Given the description of an element on the screen output the (x, y) to click on. 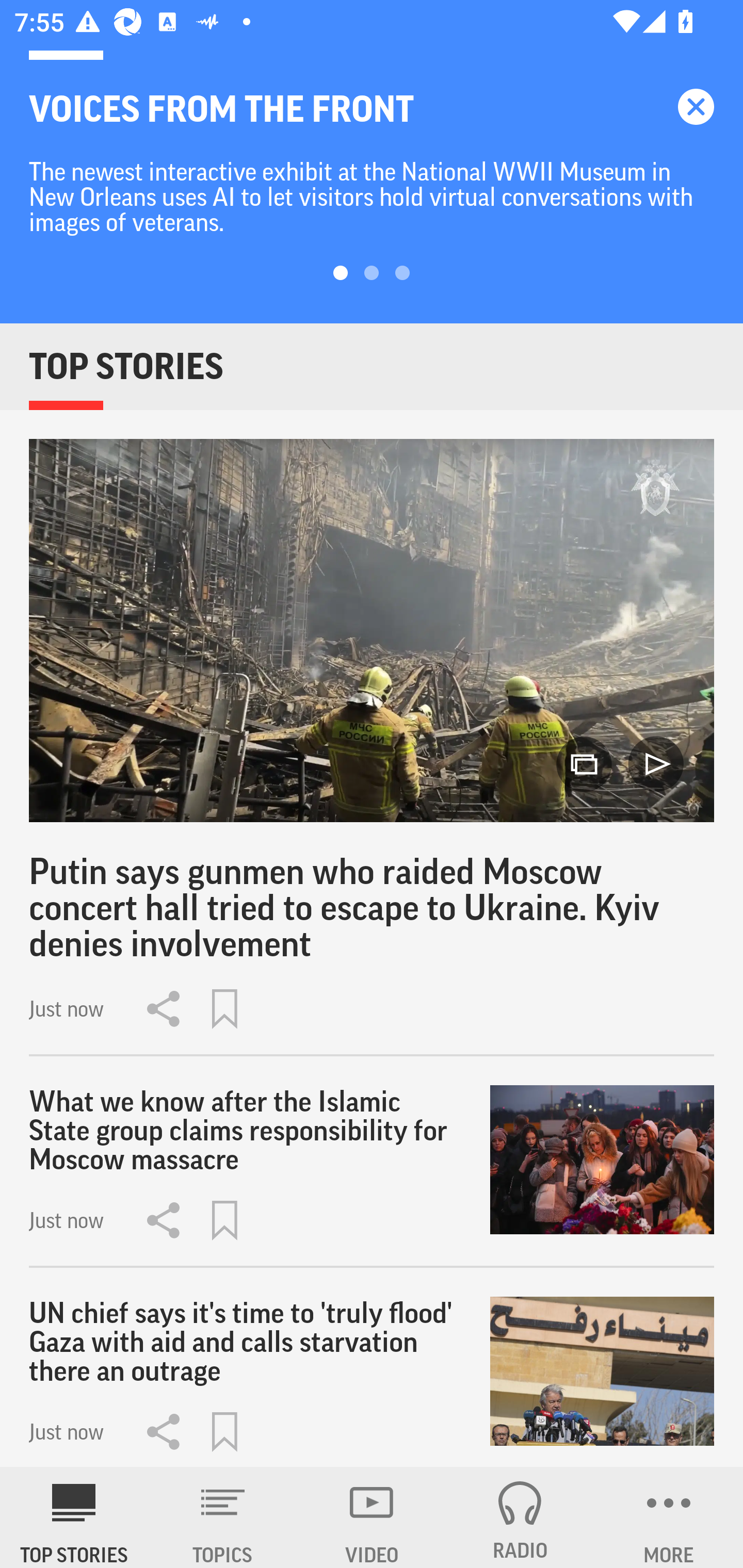
AP News TOP STORIES (74, 1517)
TOPICS (222, 1517)
VIDEO (371, 1517)
RADIO (519, 1517)
MORE (668, 1517)
